Given the description of an element on the screen output the (x, y) to click on. 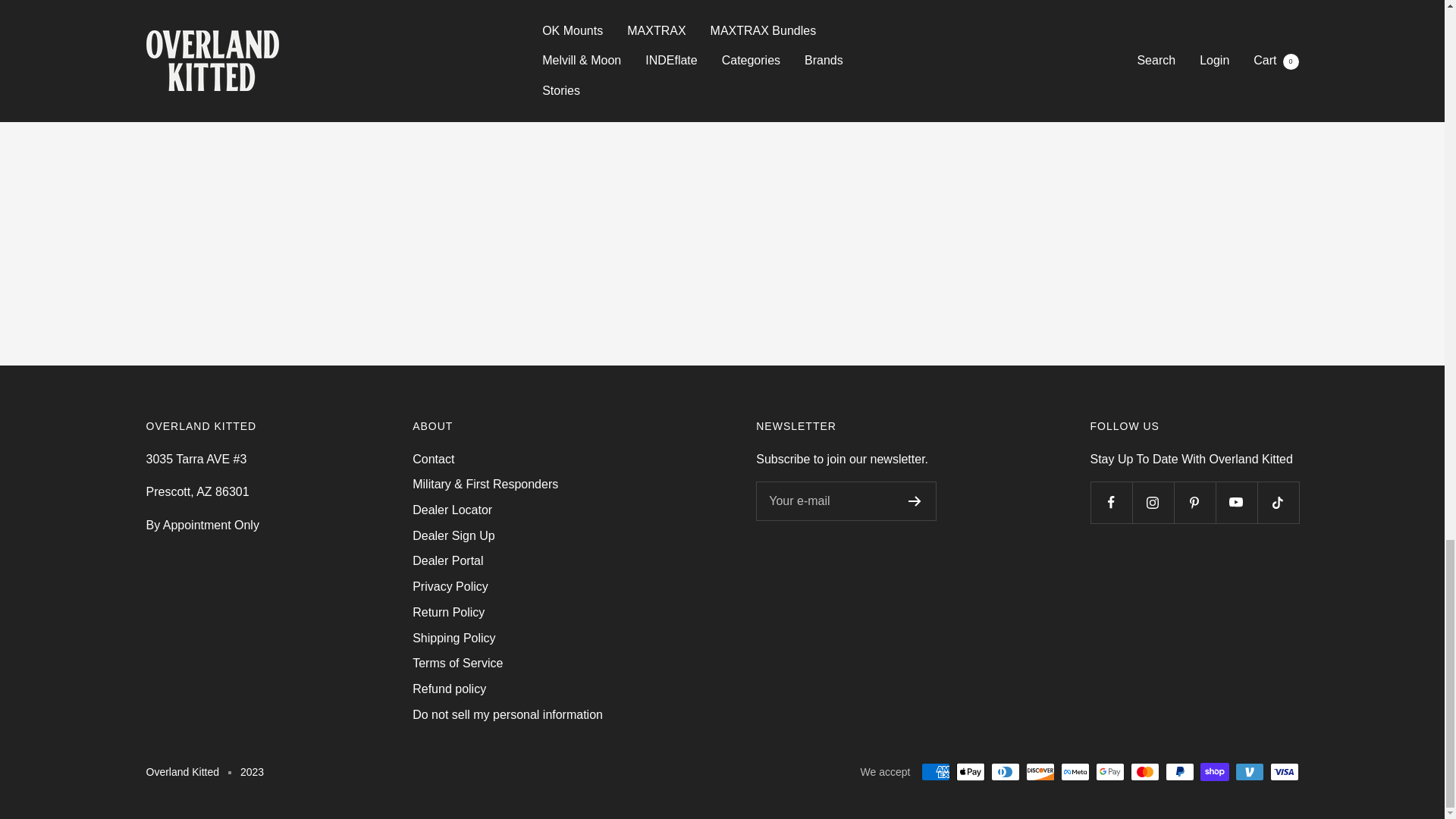
Register (914, 501)
